Given the description of an element on the screen output the (x, y) to click on. 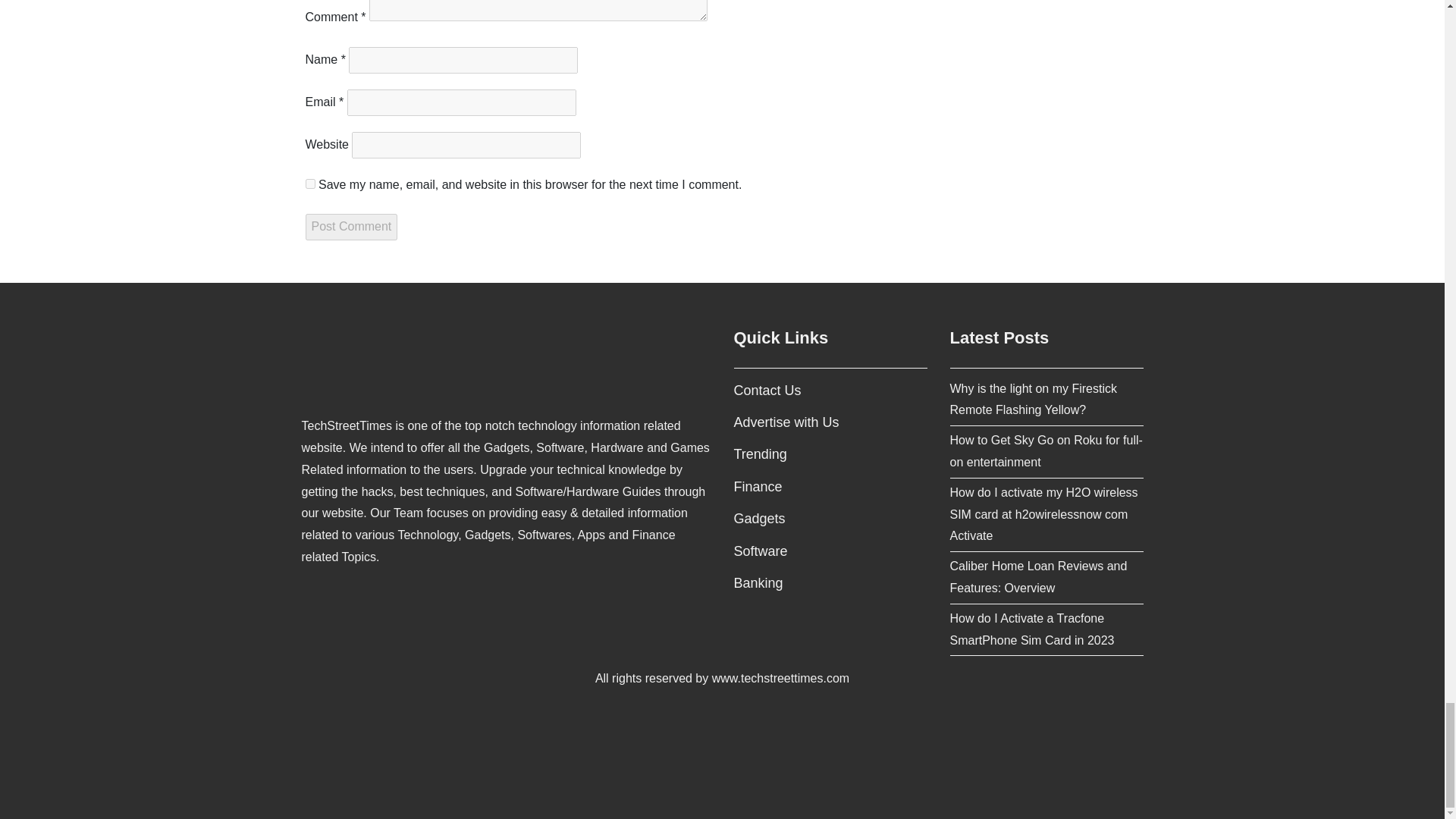
Post Comment (350, 226)
Trending (760, 453)
Advertise with Us (786, 421)
Post Comment (350, 226)
yes (309, 184)
Finance (758, 486)
DMCA.com Protection Status (721, 757)
Gadgets (759, 518)
Contact Us (767, 390)
